Given the description of an element on the screen output the (x, y) to click on. 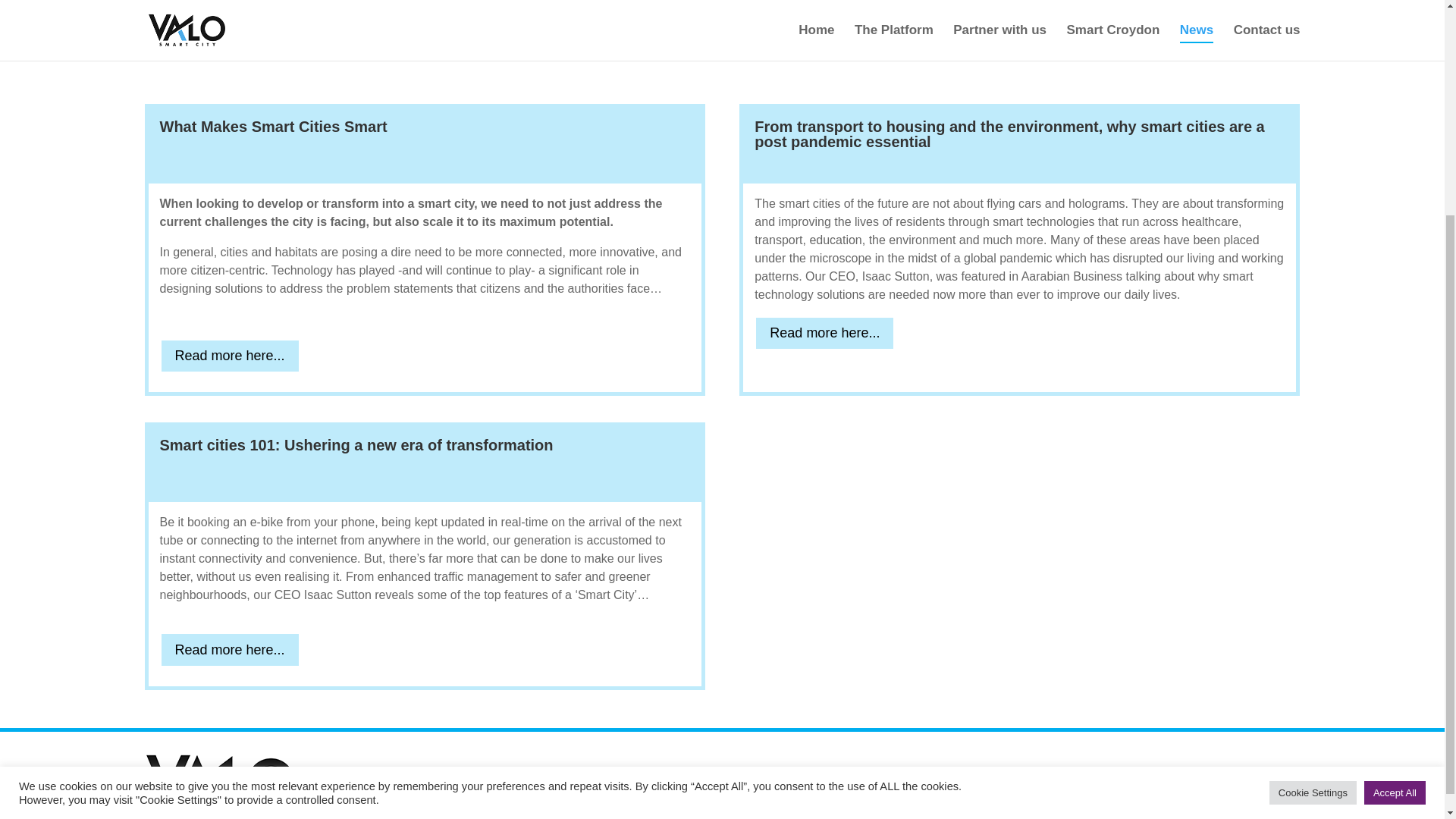
Home (858, 775)
Read more here... (824, 333)
Privacy Policy (1012, 806)
News (1206, 775)
Partner with us (1026, 775)
The Platform (929, 775)
Contact us (1269, 775)
Smart Croydon (1129, 775)
Read more here... (228, 356)
Read more here... (228, 649)
Accept All (1394, 503)
Cookie Settings (1312, 503)
VALO black logo (219, 785)
